Given the description of an element on the screen output the (x, y) to click on. 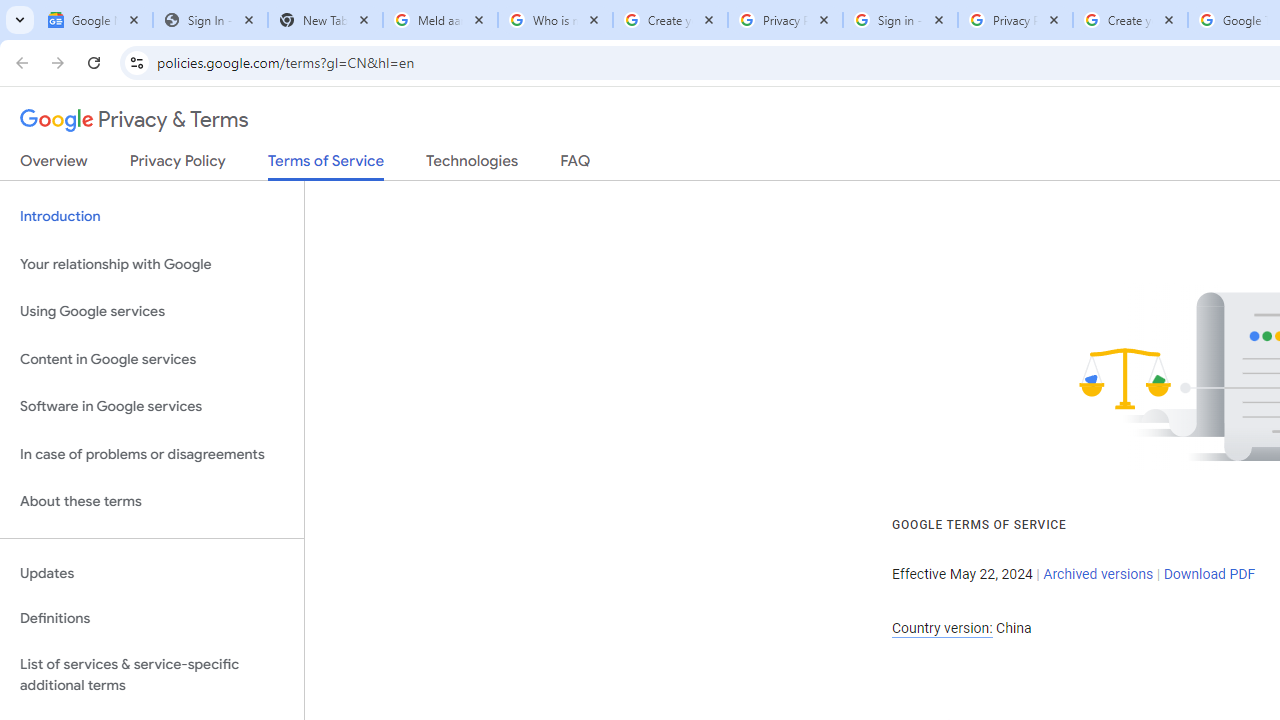
About these terms (152, 502)
Using Google services (152, 312)
Your relationship with Google (152, 263)
Country version: (942, 628)
Sign in - Google Accounts (900, 20)
